Given the description of an element on the screen output the (x, y) to click on. 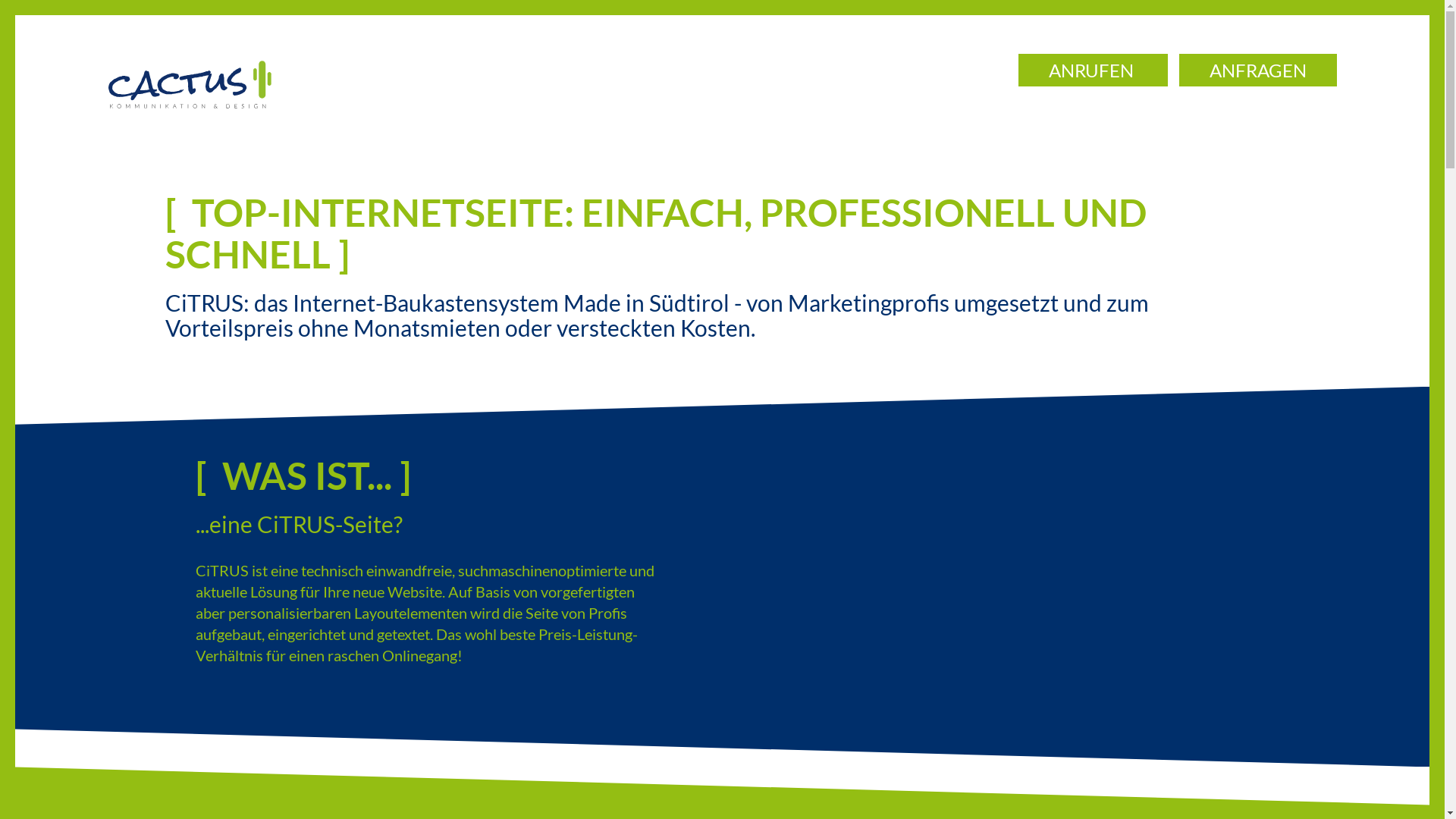
ANRUFEN Element type: text (1092, 69)
ANFRAGEN Element type: text (1257, 69)
